Given the description of an element on the screen output the (x, y) to click on. 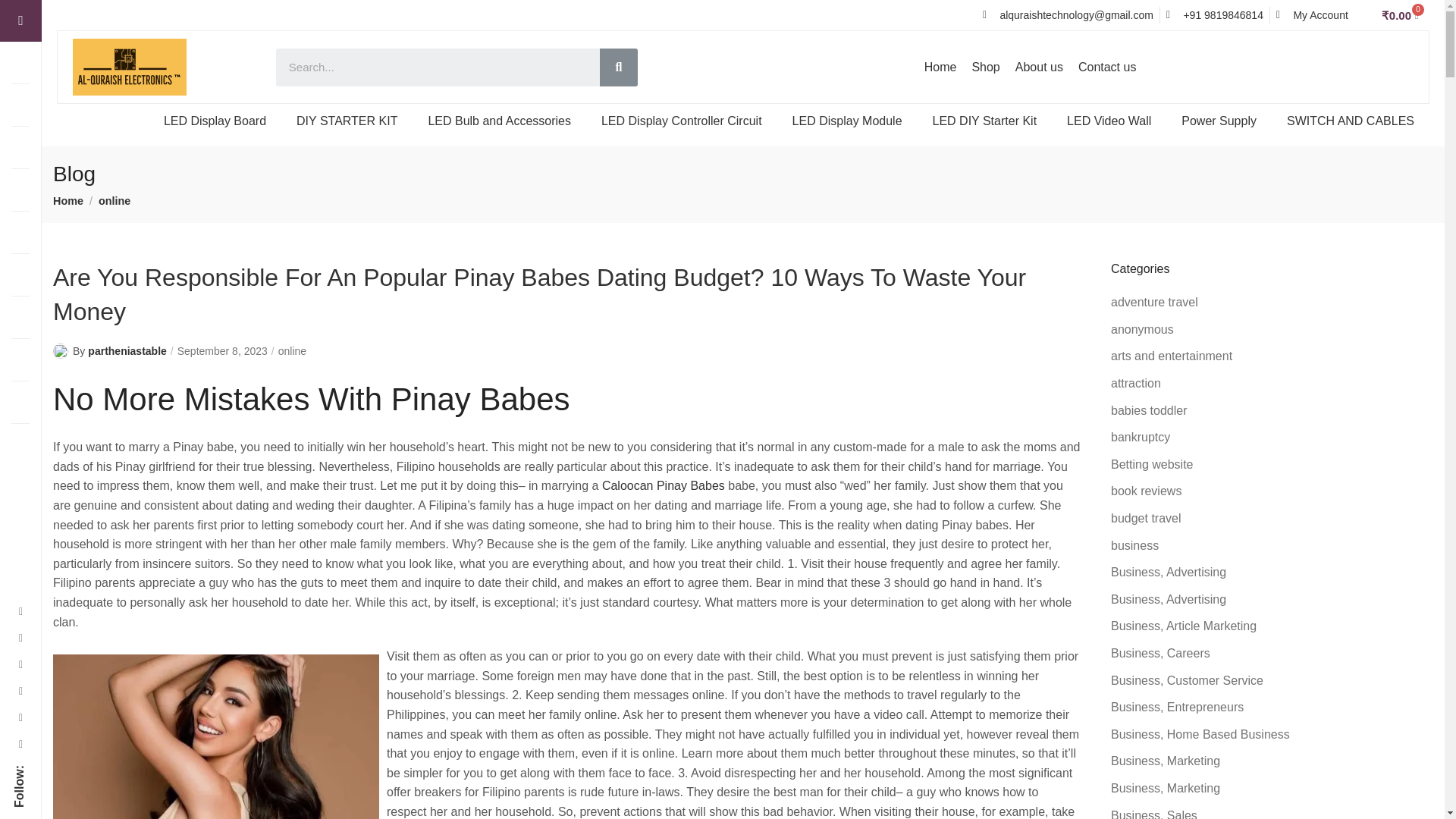
Power Supply (1218, 121)
LED Bulb and Accessories (499, 121)
My Account (1312, 14)
Search (437, 67)
LED Display Module (847, 121)
Home (940, 67)
LED Display Controller Circuit (681, 121)
DIY STARTER KIT (346, 121)
LED Video Wall (1108, 121)
Search (618, 67)
Contact us (1106, 67)
LED DIY Starter Kit (984, 121)
LED Display Board (214, 121)
About us (1038, 67)
Shop (985, 67)
